Given the description of an element on the screen output the (x, y) to click on. 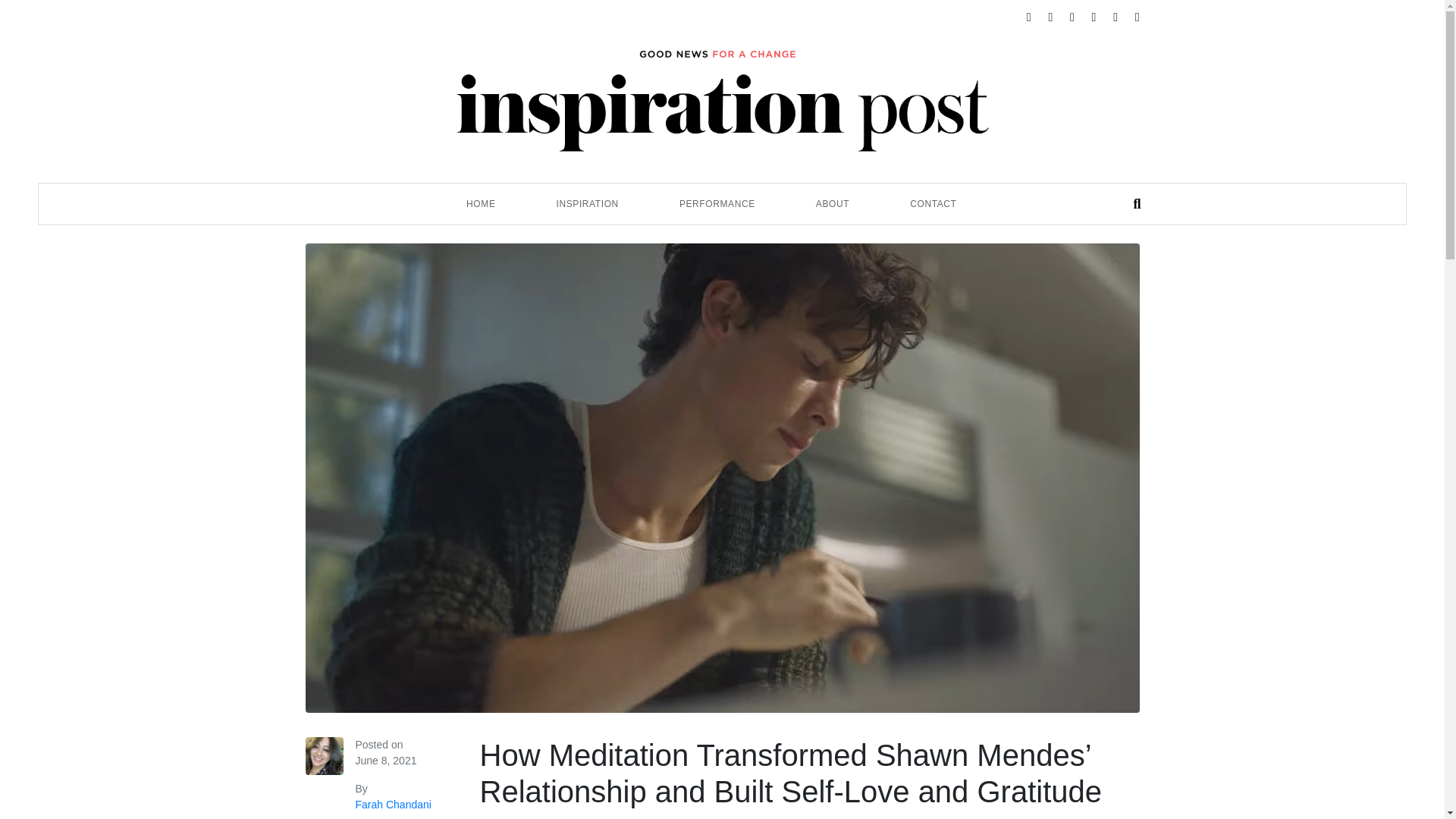
INSPIRATION (587, 203)
ABOUT (832, 203)
HOME (481, 203)
CONTACT (933, 203)
PERFORMANCE (716, 203)
